Given the description of an element on the screen output the (x, y) to click on. 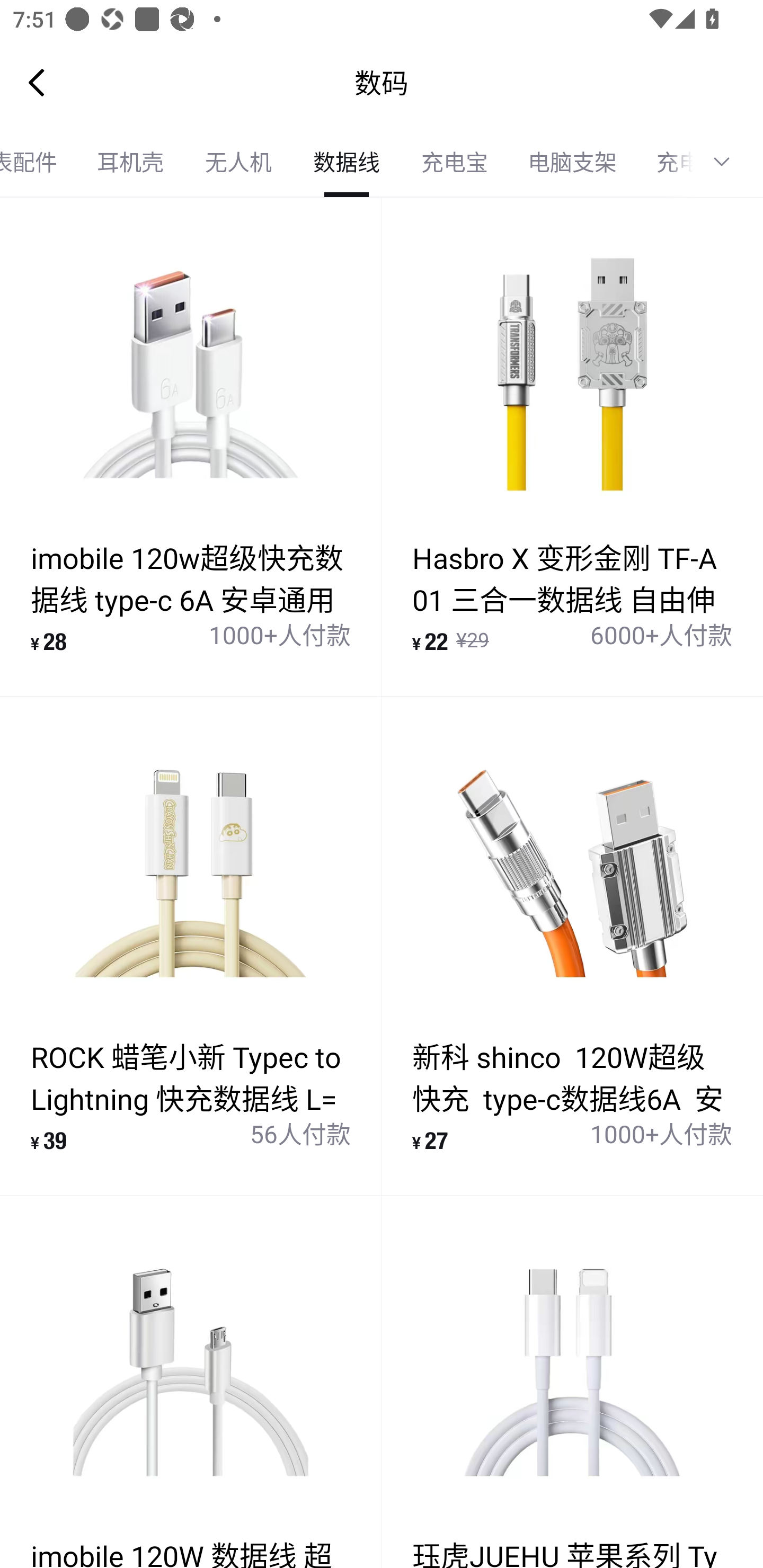
Navigate up (36, 82)
耳机壳 (130, 162)
无人机 (238, 162)
数据线 (346, 162)
充电宝 (454, 162)
电脑支架 (571, 162)
 (727, 162)
